Given the description of an element on the screen output the (x, y) to click on. 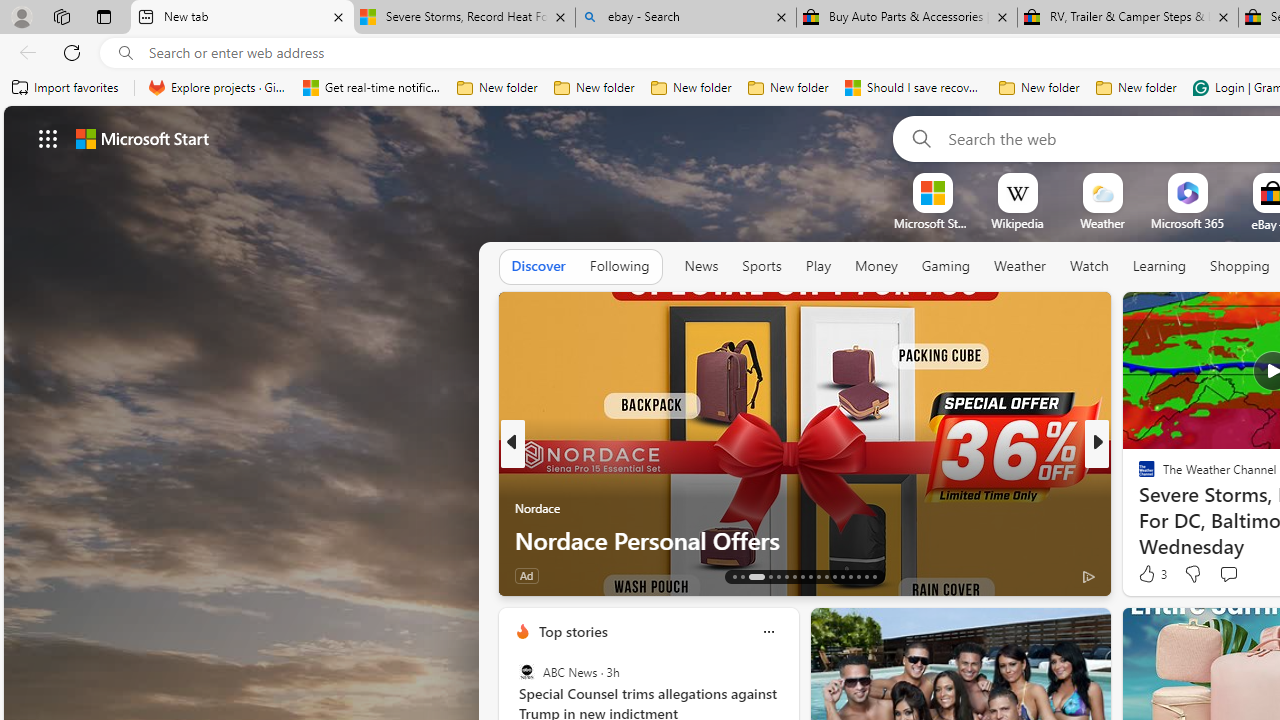
TheStreet (1138, 507)
USA TODAY (1138, 475)
Dailymotion (1138, 507)
AutomationID: tab-26 (850, 576)
MUO (1138, 507)
AutomationID: tab-21 (810, 576)
